Given the description of an element on the screen output the (x, y) to click on. 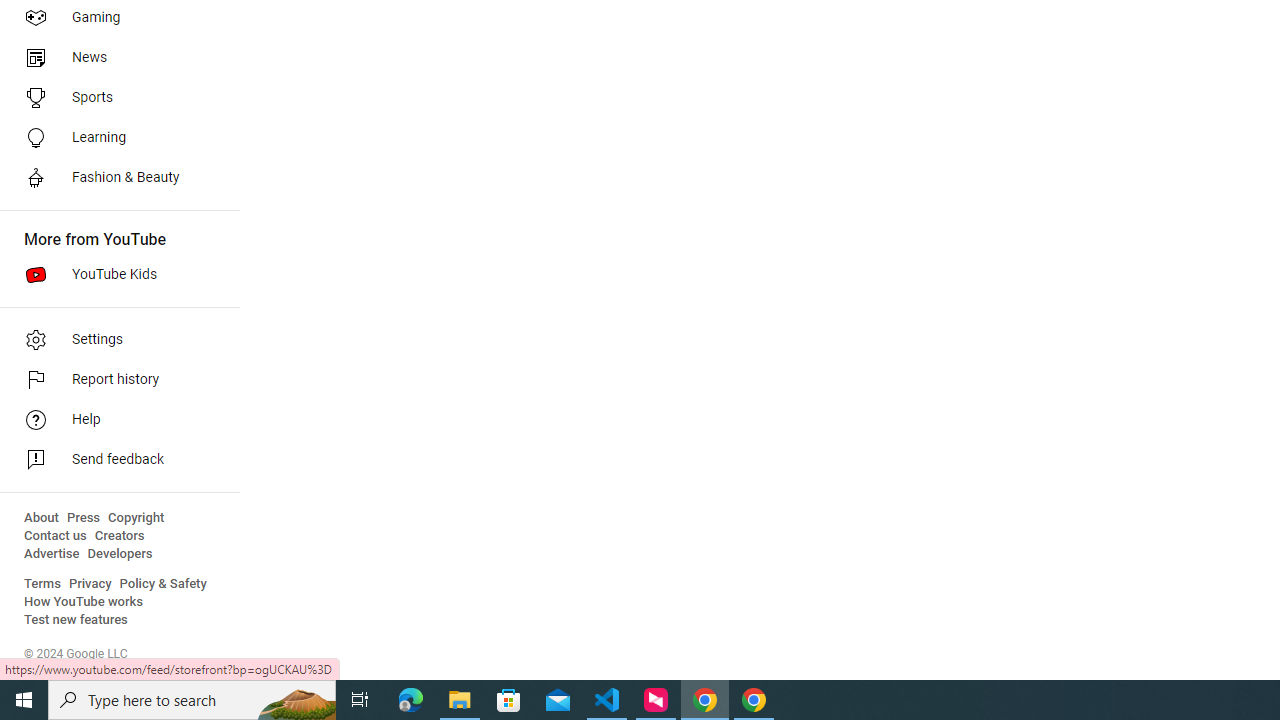
Report history (113, 380)
Sports (113, 97)
Advertise (51, 554)
Send feedback (113, 459)
News (113, 57)
YouTube Kids (113, 274)
Fashion & Beauty (113, 177)
Creators (118, 536)
How YouTube works (83, 602)
Press (83, 518)
Learning (113, 137)
